Given the description of an element on the screen output the (x, y) to click on. 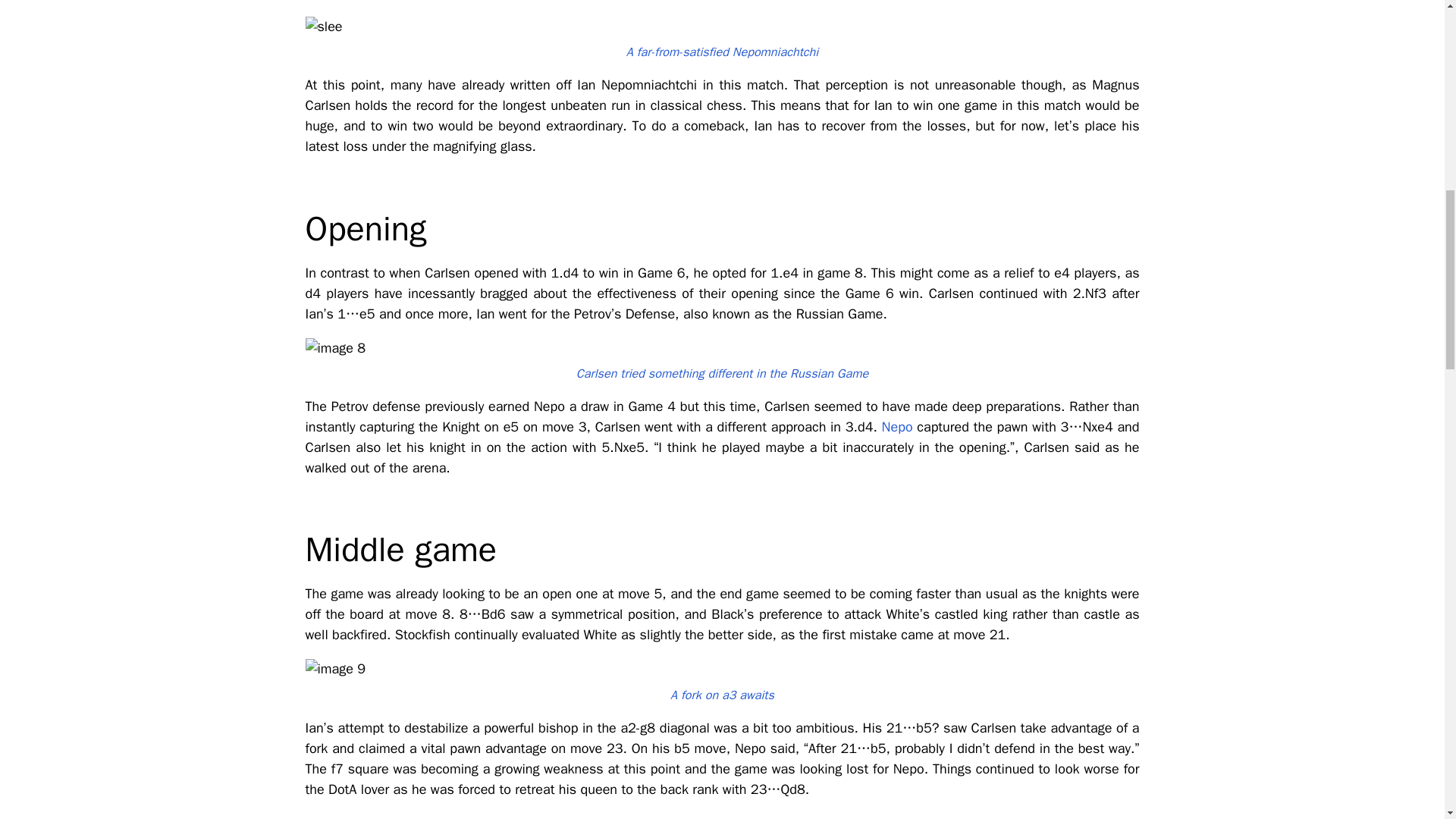
Nepo (897, 426)
